Given the description of an element on the screen output the (x, y) to click on. 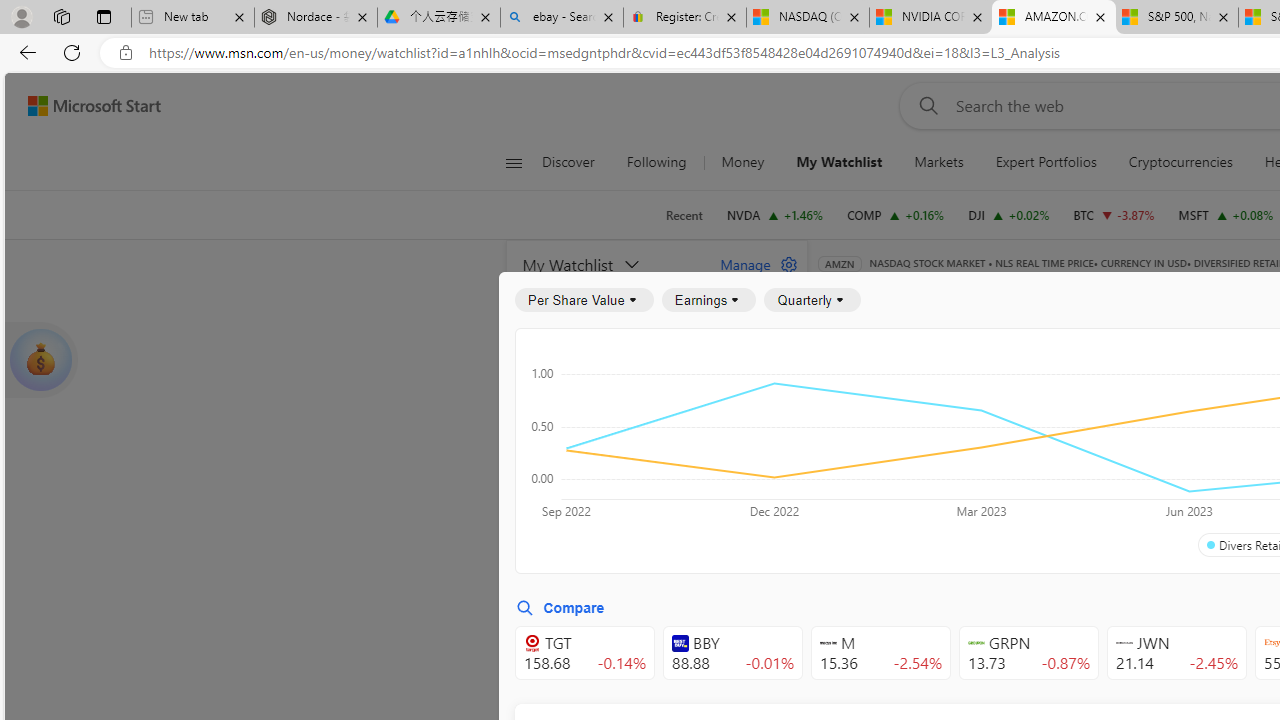
Profitability (1164, 445)
Income Statement (968, 391)
Growth Rates (1058, 445)
My Watchlist (838, 162)
Cryptocurrencies (1180, 162)
My Watchlist (839, 162)
DJI DOW increase 41,250.50 +9.98 +0.02% (1009, 214)
Expert Portfolios (1046, 162)
Per Share Values (934, 445)
